Given the description of an element on the screen output the (x, y) to click on. 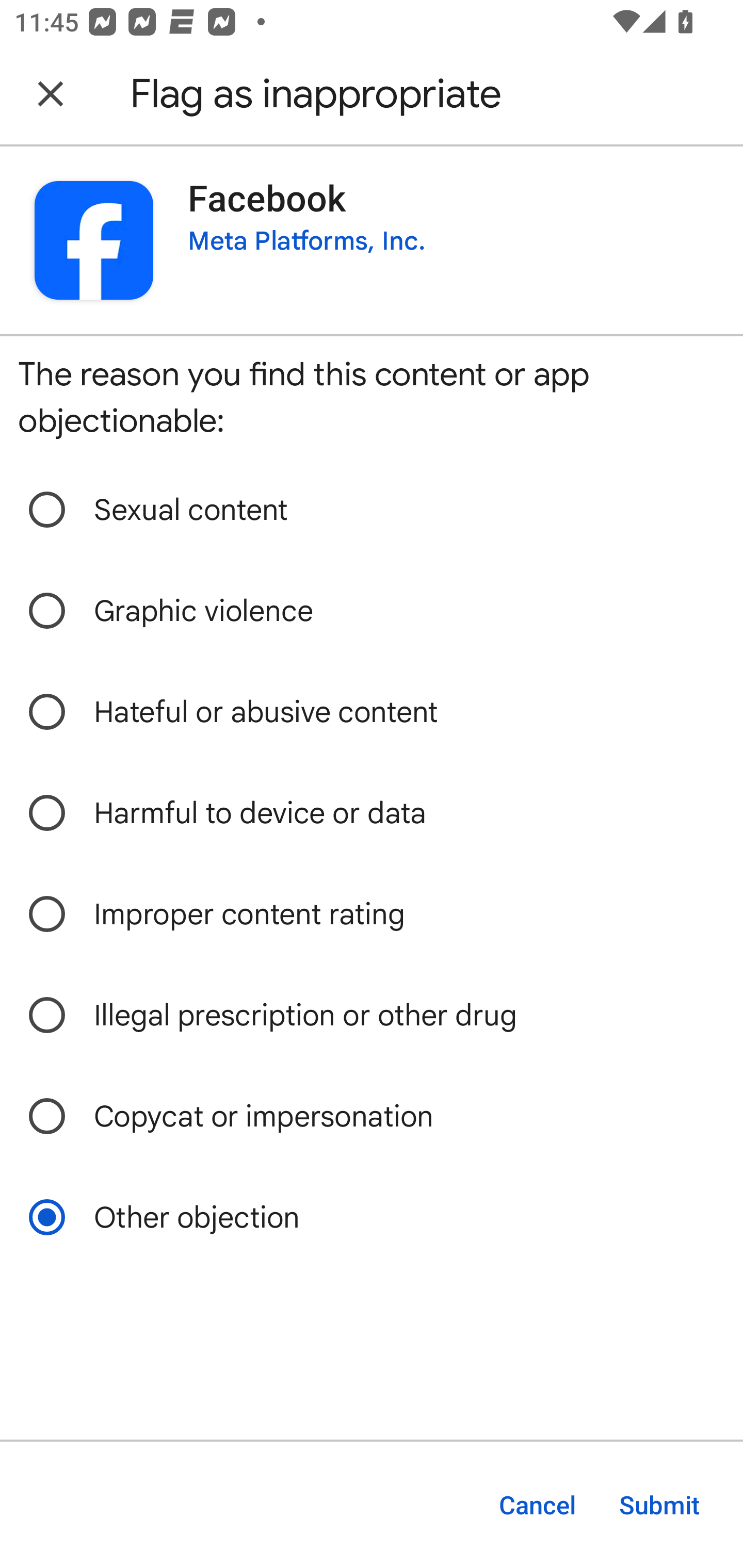
Close (50, 93)
Meta Platforms, Inc. (306, 240)
Sexual content (371, 509)
Graphic violence (371, 610)
Hateful or abusive content (371, 711)
Harmful to device or data (371, 812)
Improper content rating (371, 913)
Illegal prescription or other drug (371, 1015)
Copycat or impersonation (371, 1116)
Other objection (371, 1217)
Cancel (537, 1504)
Submit (659, 1504)
